Given the description of an element on the screen output the (x, y) to click on. 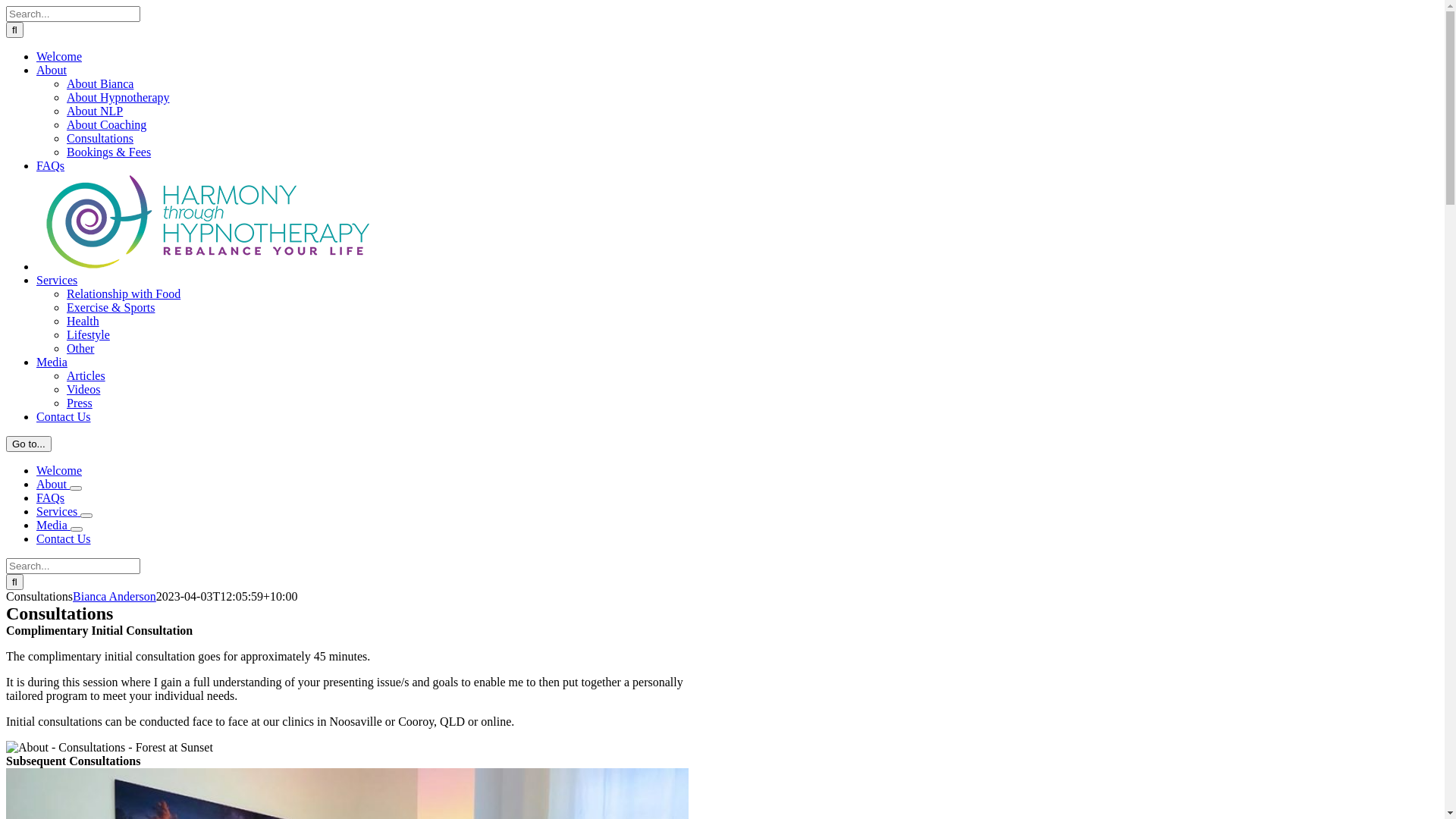
Media Element type: text (53, 524)
Services Element type: text (58, 511)
About Hypnotherapy Element type: text (117, 97)
Health Element type: text (82, 320)
Welcome Element type: text (58, 56)
Welcome Element type: text (58, 470)
Press Element type: text (79, 402)
Bookings & Fees Element type: text (108, 151)
Go to... Element type: text (28, 443)
Consultations Element type: text (99, 137)
Bianca Anderson Element type: text (114, 595)
About Bianca Element type: text (99, 83)
Lifestyle Element type: text (87, 334)
Relationship with Food Element type: text (123, 293)
Videos Element type: text (83, 388)
Exercise & Sports Element type: text (110, 307)
FAQs Element type: text (50, 165)
About Coaching Element type: text (106, 124)
Media Element type: text (51, 361)
Other Element type: text (80, 348)
Skip to content Element type: text (5, 5)
Services Element type: text (56, 279)
About Element type: text (51, 69)
Contact Us Element type: text (63, 538)
Articles Element type: text (85, 375)
Contact Us Element type: text (63, 416)
FAQs Element type: text (50, 497)
About NLP Element type: text (94, 110)
About Element type: text (52, 483)
